Given the description of an element on the screen output the (x, y) to click on. 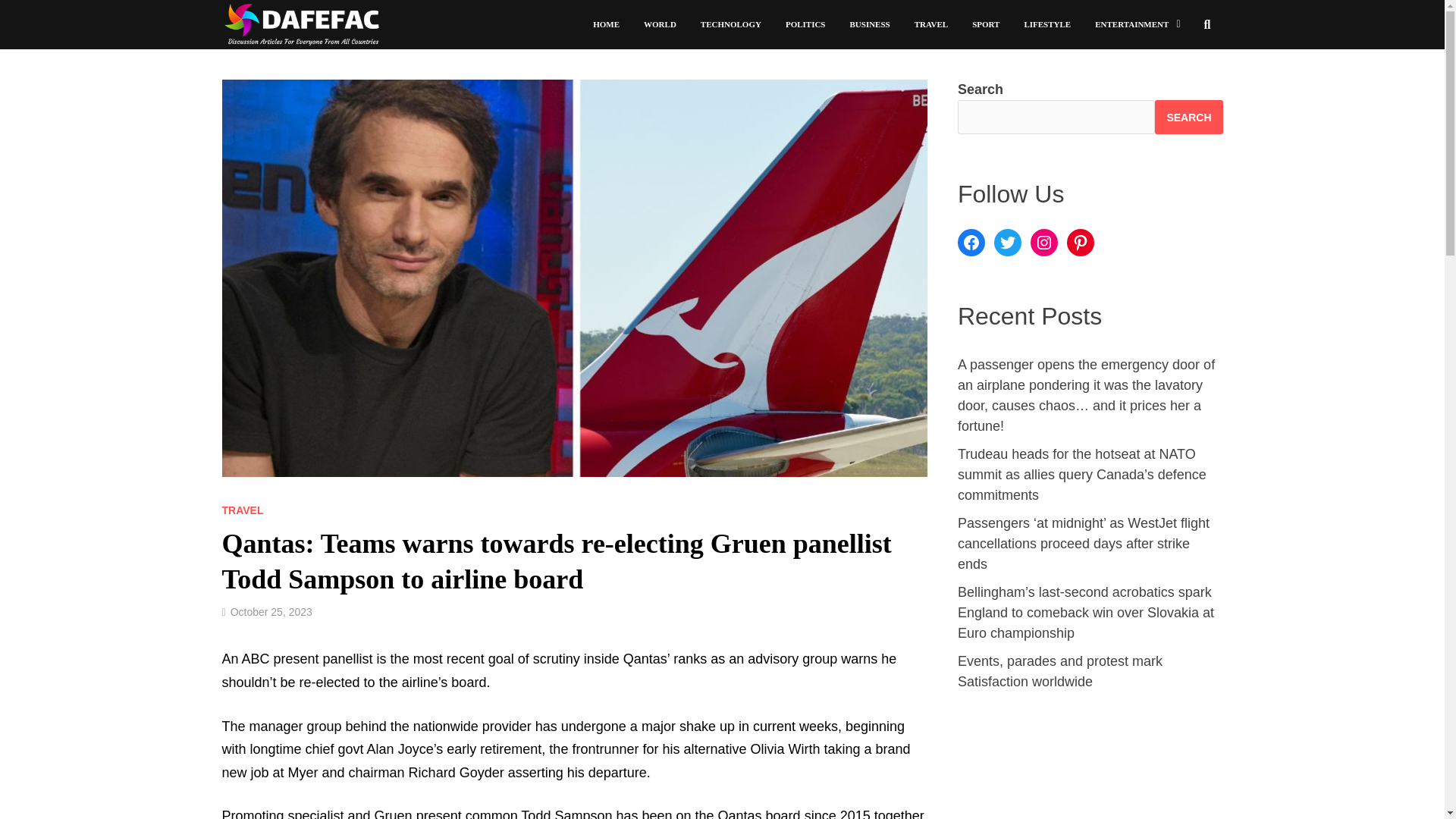
TRAVEL (930, 24)
TRAVEL (242, 510)
TECHNOLOGY (730, 24)
WORLD (659, 24)
HOME (605, 24)
POLITICS (805, 24)
LIFESTYLE (1047, 24)
ENTERTAINMENT (1137, 24)
SPORT (985, 24)
BUSINESS (869, 24)
October 25, 2023 (271, 612)
